Given the description of an element on the screen output the (x, y) to click on. 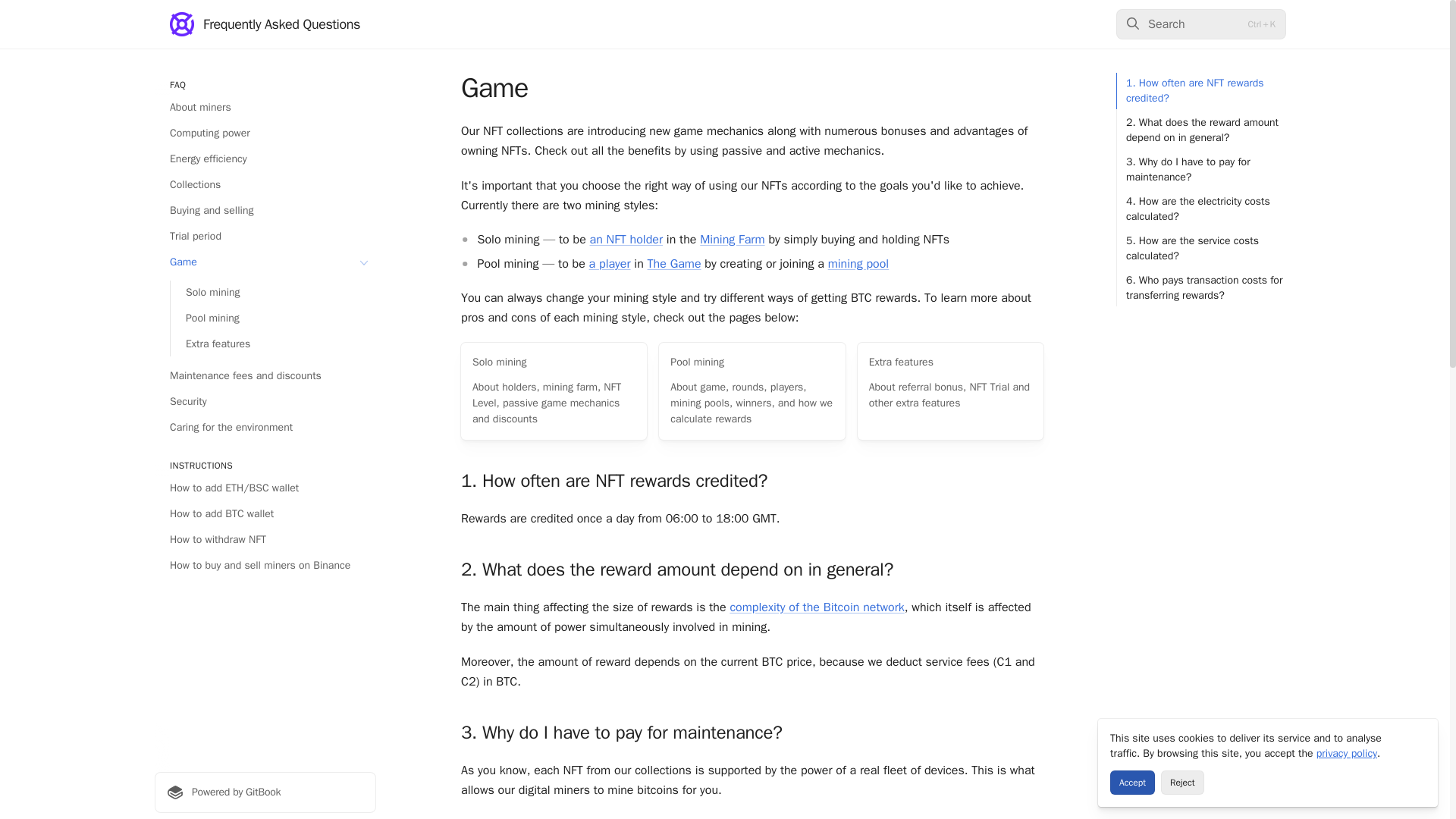
Solo mining (272, 292)
Security (264, 401)
Caring for the environment (264, 427)
Extra features (272, 344)
Collections (264, 184)
Game (264, 262)
The Game (674, 263)
Powered by GitBook (264, 792)
Pool mining (272, 318)
